Given the description of an element on the screen output the (x, y) to click on. 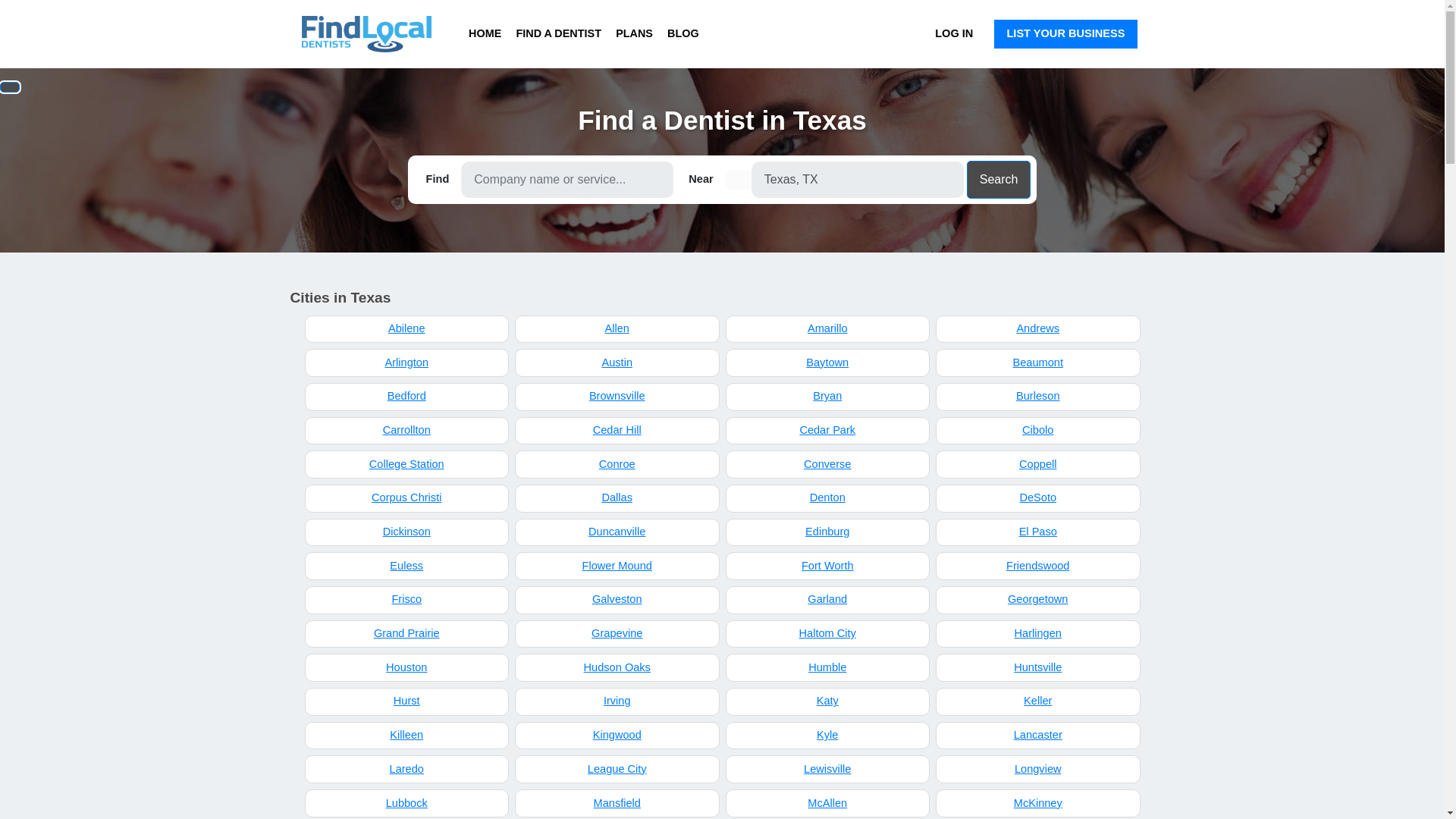
Bedford (406, 397)
Andrews (1038, 329)
Dallas (617, 498)
Edinburg (827, 532)
Amarillo (827, 329)
Corpus Christi (406, 498)
HOME (484, 33)
Search (998, 179)
DeSoto (1038, 498)
Cedar Hill (617, 430)
Cedar Park (827, 430)
Skip to main content (5, 6)
Beaumont (1038, 362)
Baytown (827, 362)
PLANS (633, 33)
